Given the description of an element on the screen output the (x, y) to click on. 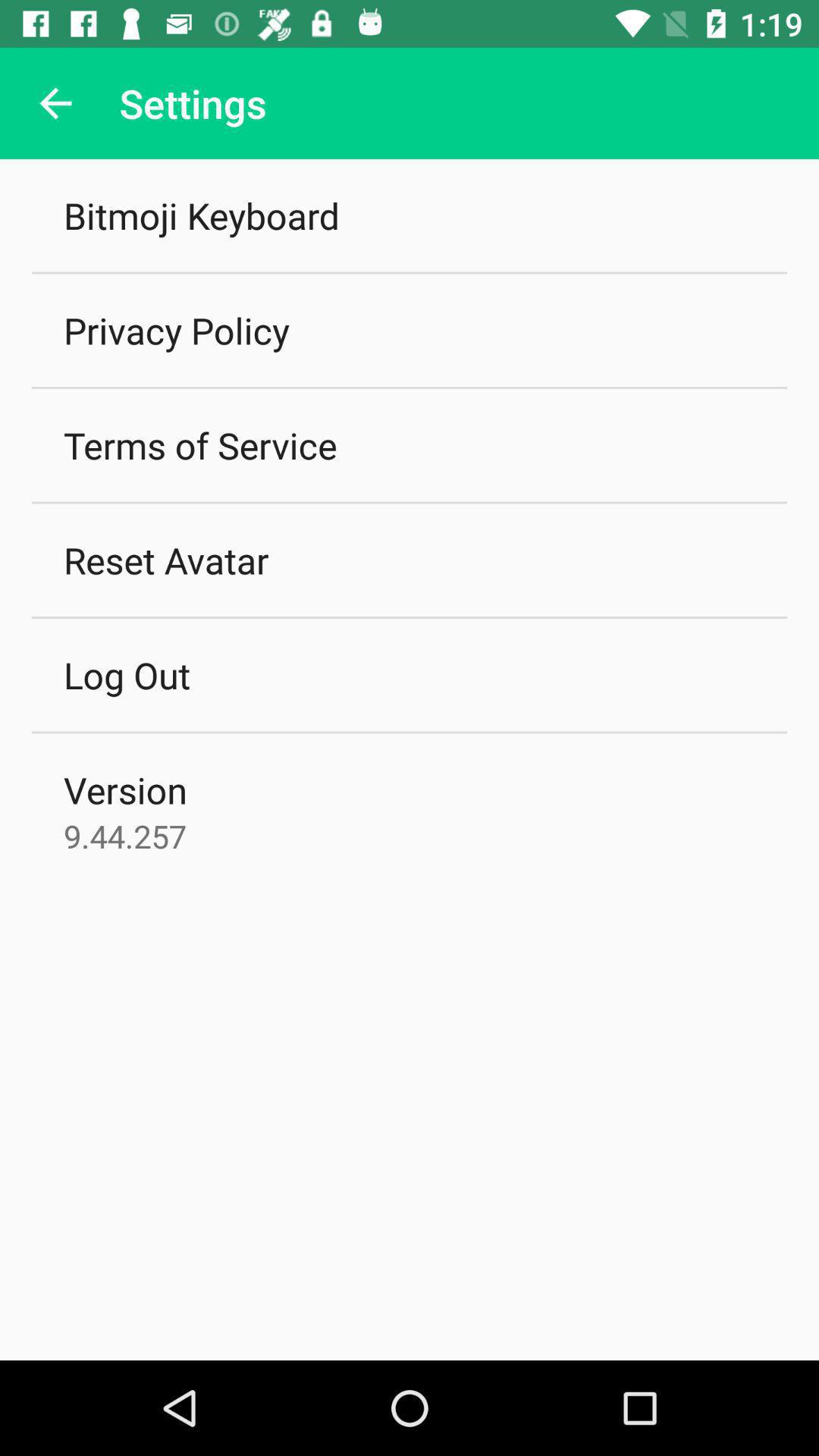
open terms of service (200, 444)
